Given the description of an element on the screen output the (x, y) to click on. 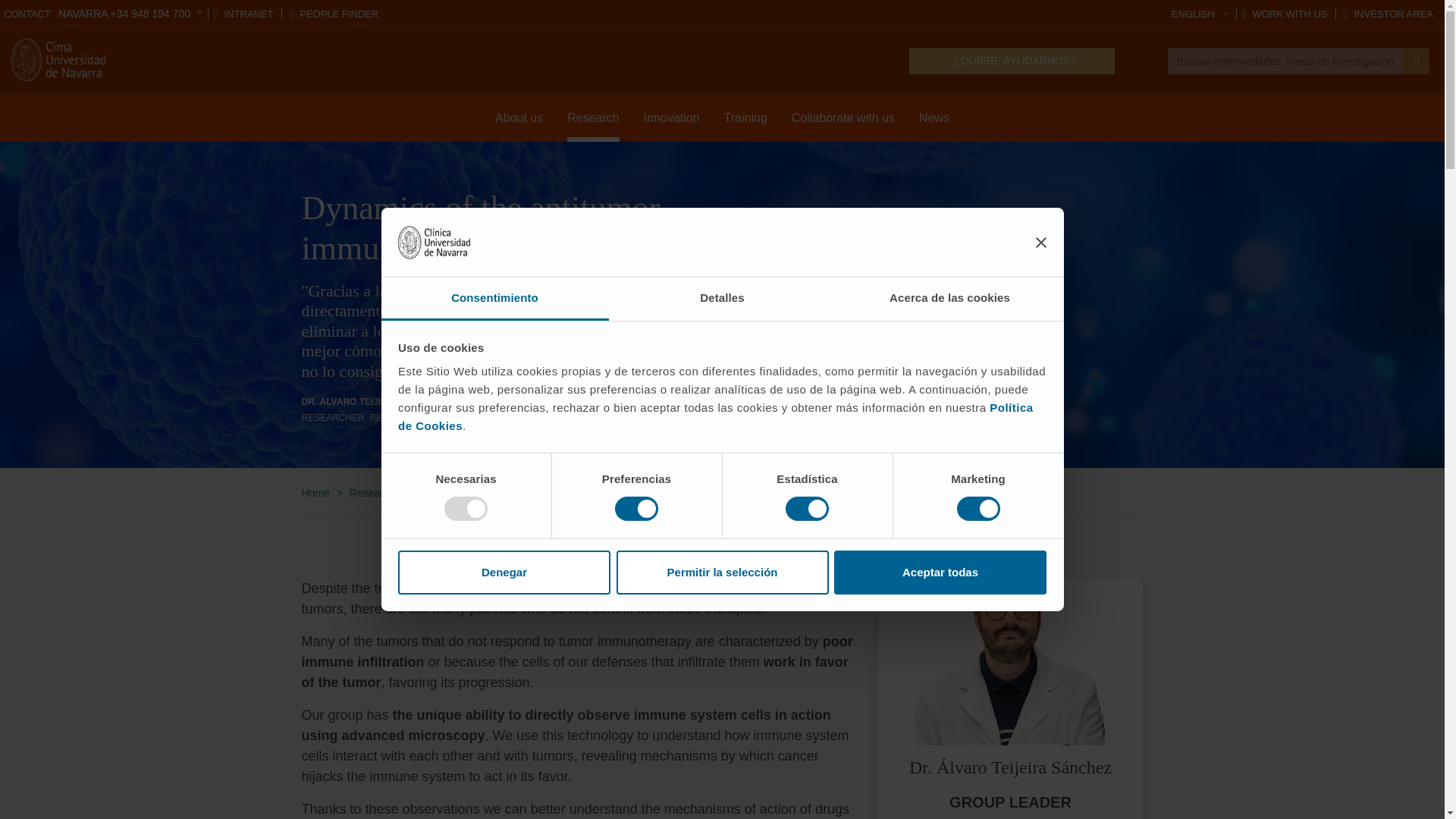
INVESTOR AREA (1387, 13)
Acerca de las cookies (948, 299)
NAVARRA (130, 13)
PEOPLE FINDER (333, 13)
on (636, 508)
Idioma (1200, 13)
Consentimiento (494, 299)
Detalles (721, 299)
on (978, 508)
Cima Universidad de Navarra (60, 59)
